Given the description of an element on the screen output the (x, y) to click on. 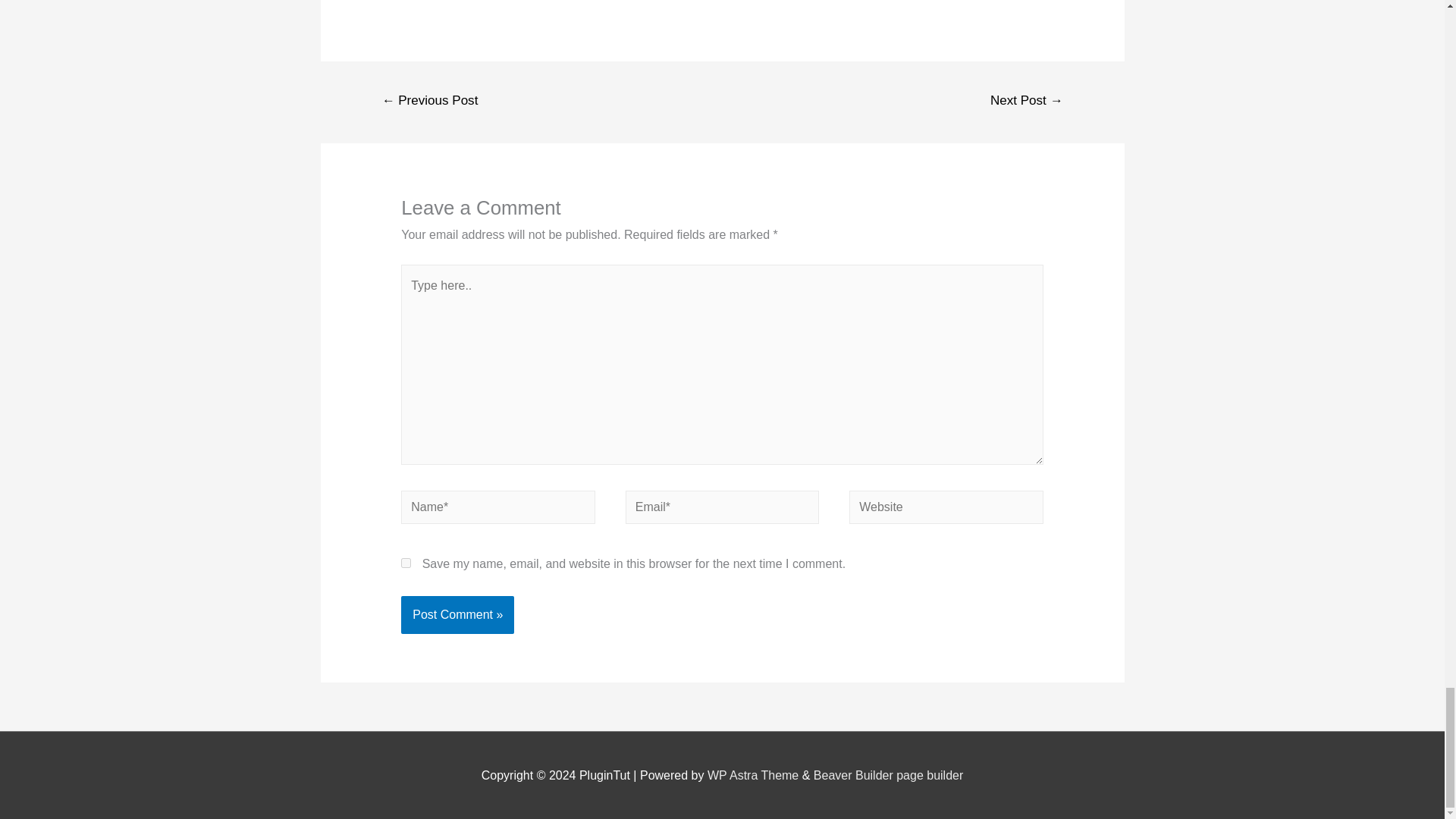
Beaver Builder page builder (887, 775)
WP Astra Theme (752, 775)
yes (405, 562)
